Given the description of an element on the screen output the (x, y) to click on. 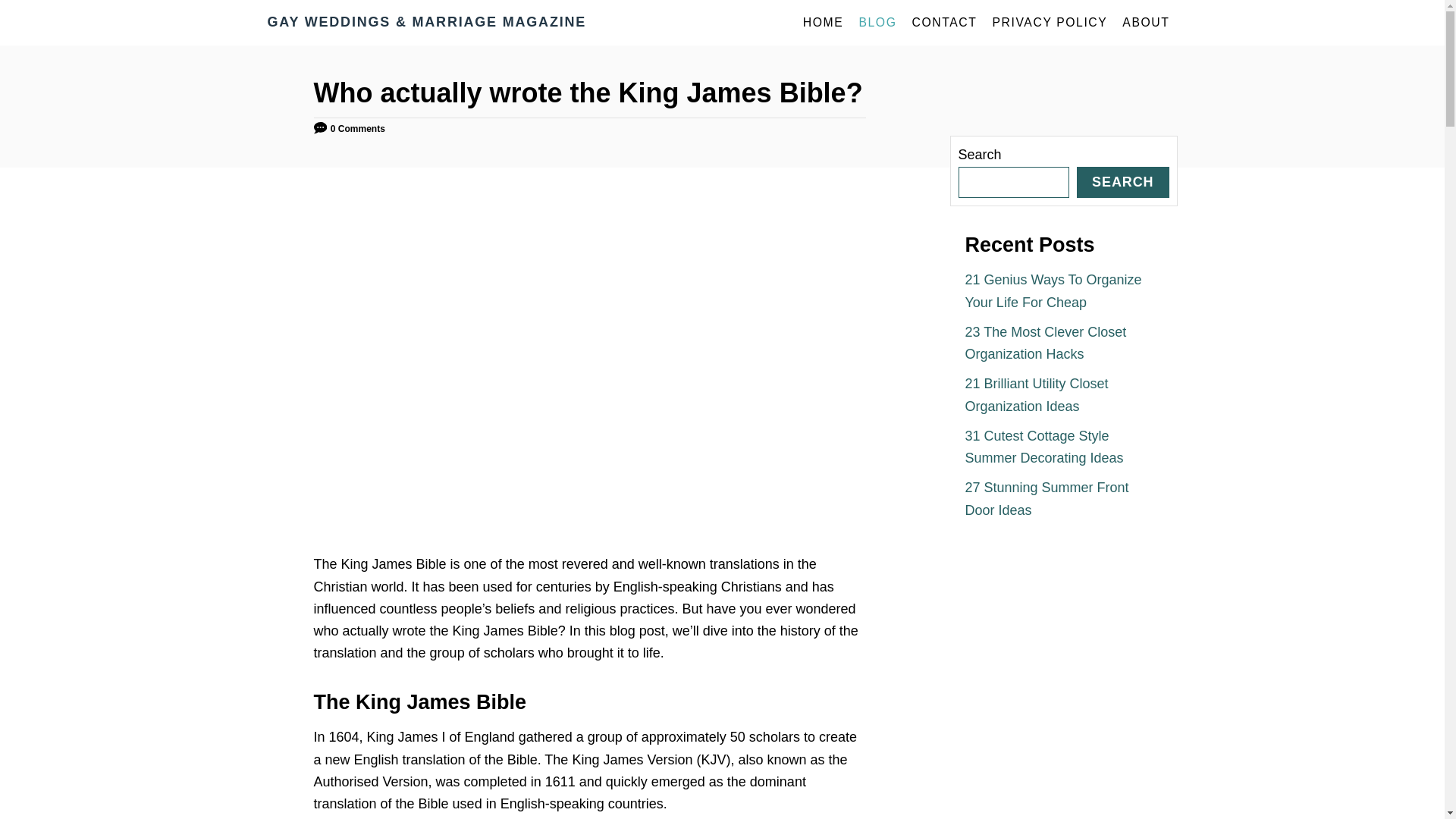
21 Genius Ways To Organize Your Life For Cheap (1052, 290)
PRIVACY POLICY (1049, 22)
23 The Most Clever Closet Organization Hacks (1044, 342)
21 Brilliant Utility Closet Organization Ideas (1035, 394)
CONTACT (944, 22)
BLOG (877, 22)
31 Cutest Cottage Style Summer Decorating Ideas (1042, 447)
27 Stunning Summer Front Door Ideas (1045, 497)
SEARCH (1123, 182)
HOME (822, 22)
ABOUT (1145, 22)
